Given the description of an element on the screen output the (x, y) to click on. 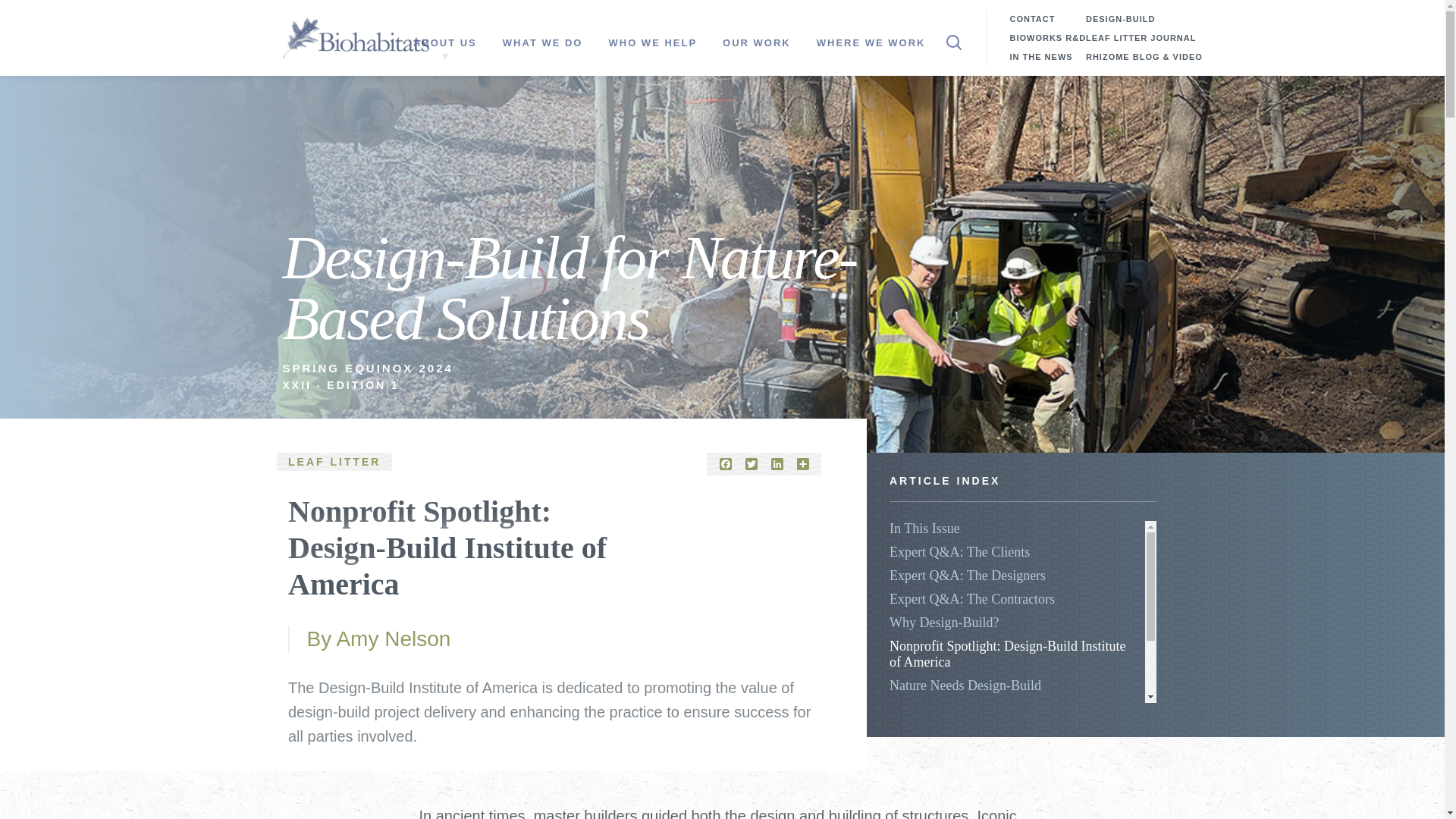
Facebook (724, 463)
Twitter (750, 463)
WHAT WE DO (543, 43)
OUR WORK (756, 43)
ABOUT US (444, 43)
WHO WE HELP (651, 43)
CONTACT (1031, 18)
WHERE WE WORK (871, 43)
LEAF LITTER JOURNAL (1141, 37)
DESIGN-BUILD (1120, 18)
LinkedIn (776, 463)
IN THE NEWS (1040, 56)
